Given the description of an element on the screen output the (x, y) to click on. 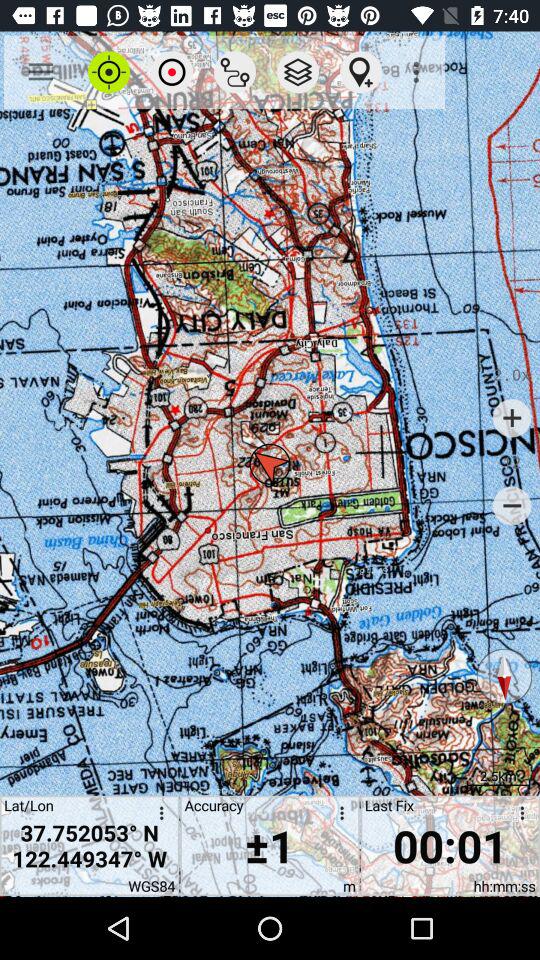
customize the timer (519, 816)
